Given the description of an element on the screen output the (x, y) to click on. 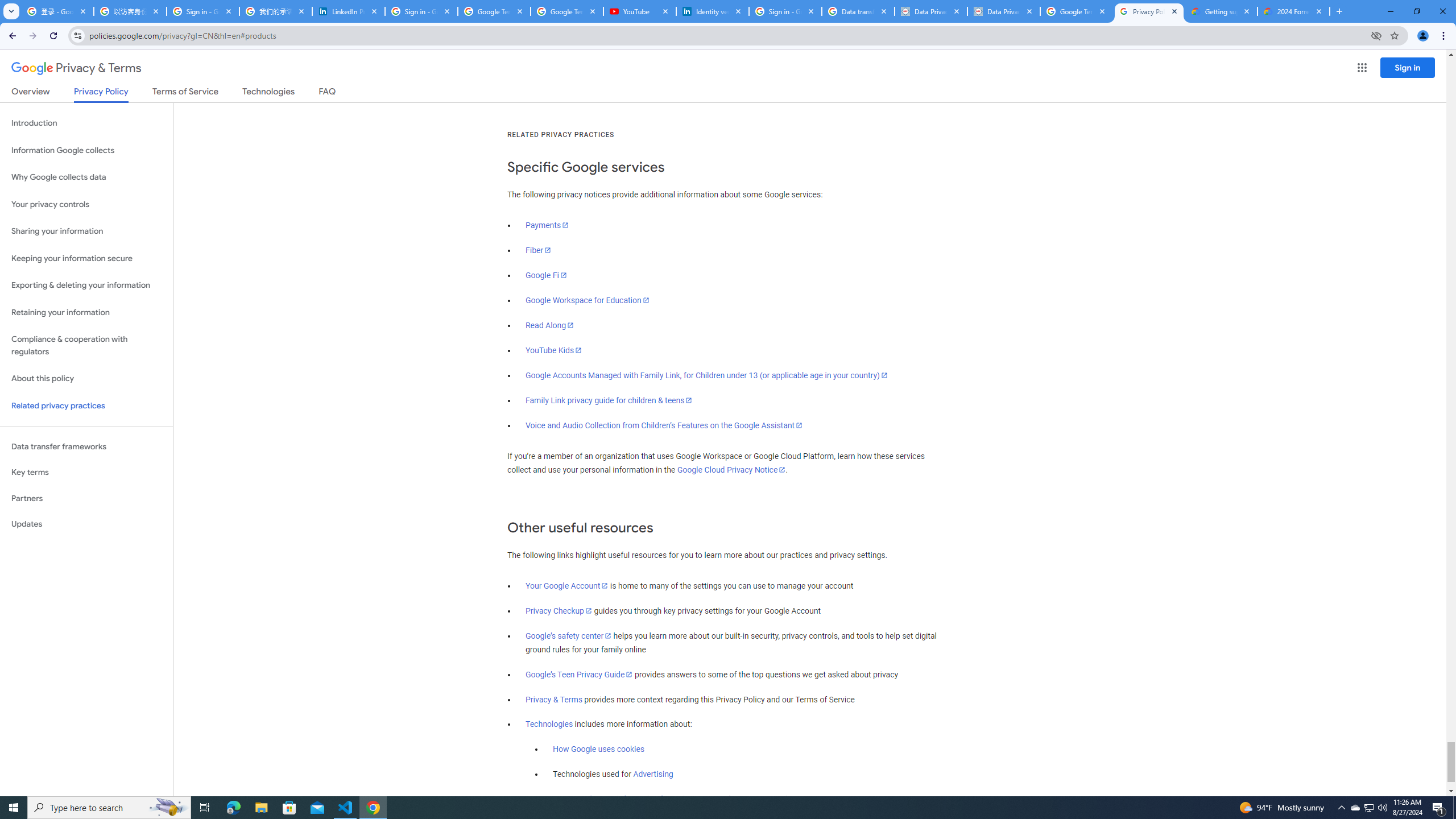
Sign in (1407, 67)
Privacy Policy (100, 94)
Advertising (652, 774)
Family Link privacy guide for children & teens (609, 400)
YouTube (639, 11)
Read Along (550, 325)
Your privacy controls (86, 204)
Retaining your information (86, 312)
